Given the description of an element on the screen output the (x, y) to click on. 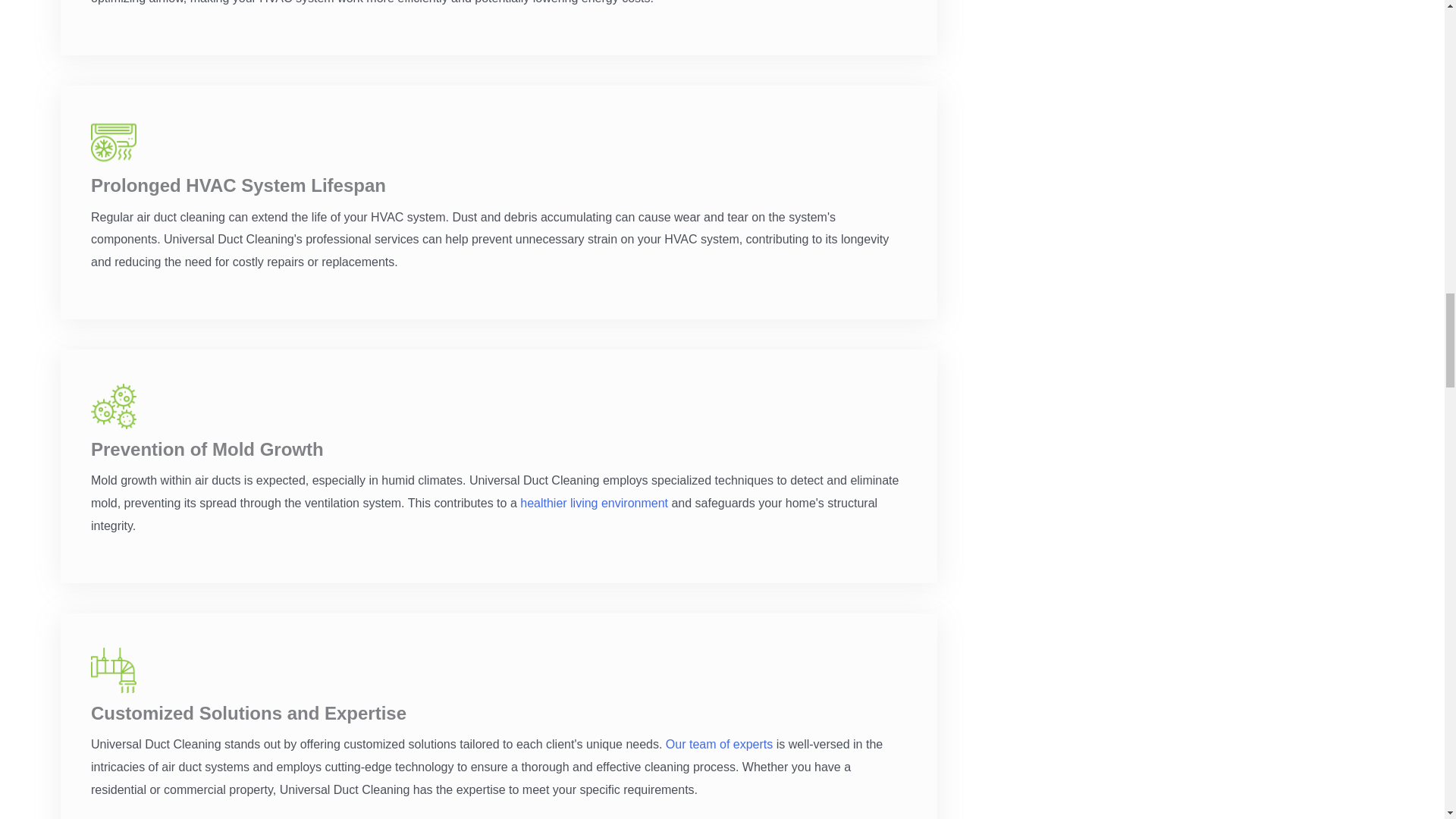
ventilation (113, 669)
virus (113, 406)
air-conditioning (113, 142)
